Given the description of an element on the screen output the (x, y) to click on. 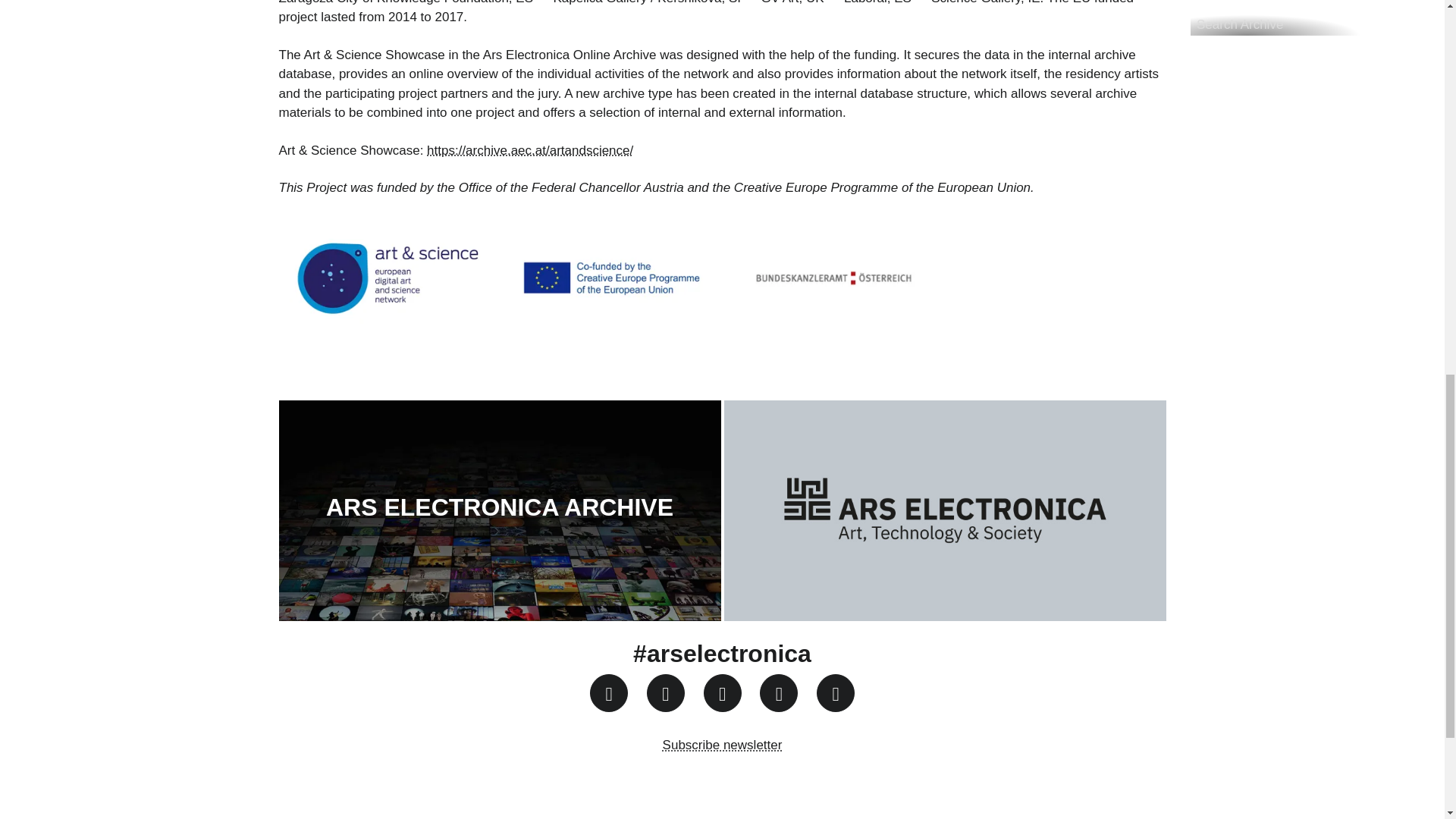
Instagram (608, 692)
Facebook (665, 692)
YouTube (722, 692)
